Given the description of an element on the screen output the (x, y) to click on. 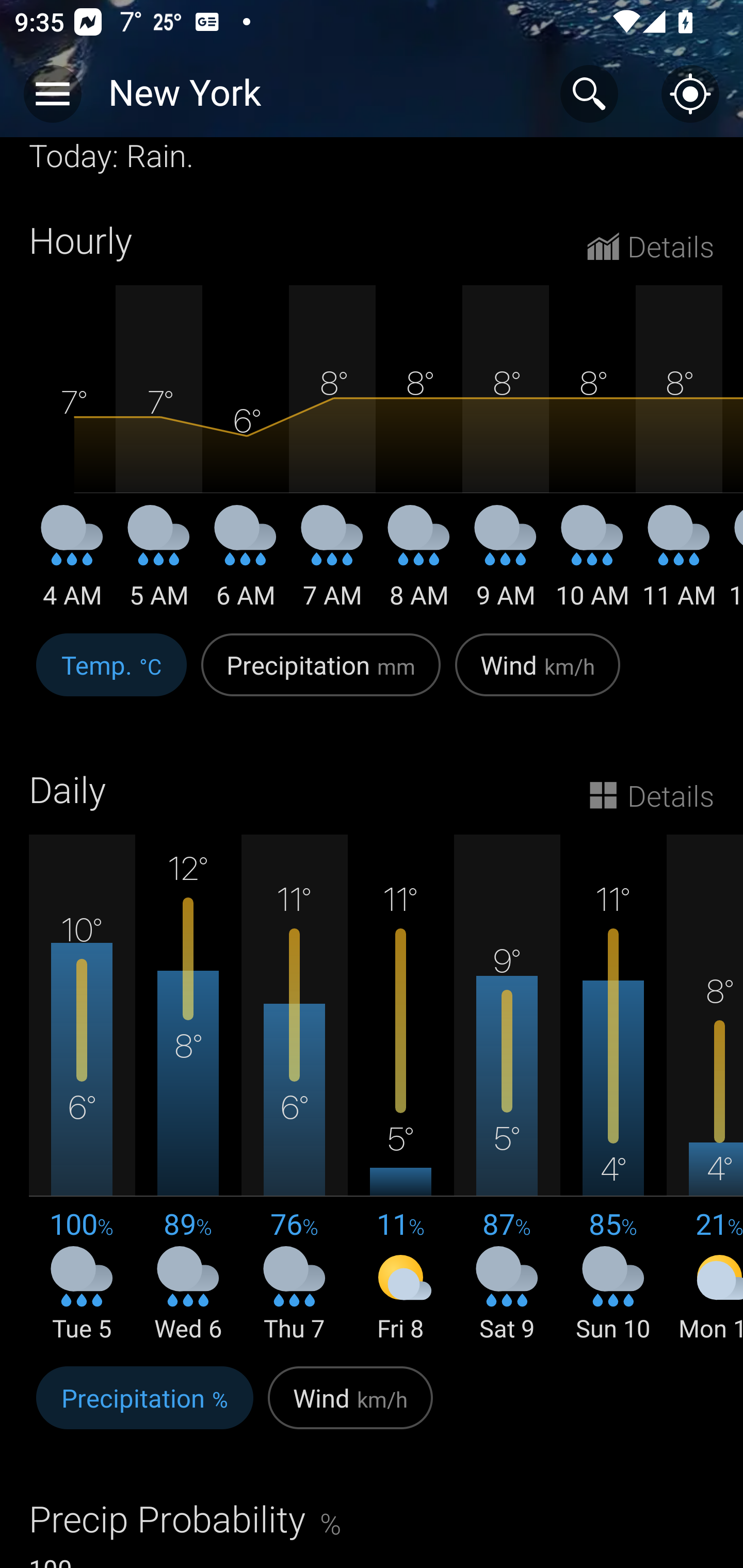
4 AM (71, 563)
5 AM (158, 563)
6 AM (245, 563)
7 AM (332, 563)
8 AM (418, 563)
9 AM (505, 563)
10 AM (592, 563)
11 AM (679, 563)
Temp. °C (110, 674)
Precipitation mm (320, 674)
Wind km/h (537, 674)
10° 6° 100 % Tue 5 (81, 1089)
12° 8° 89 % Wed 6 (188, 1089)
11° 6° 76 % Thu 7 (294, 1089)
11° 5° 11 % Fri 8 (400, 1089)
9° 5° 87 % Sat 9 (506, 1089)
11° 4° 85 % Sun 10 (613, 1089)
8° 4° 21 % Mon 11 (704, 1089)
Precipitation % (144, 1408)
Wind km/h (349, 1408)
